Given the description of an element on the screen output the (x, y) to click on. 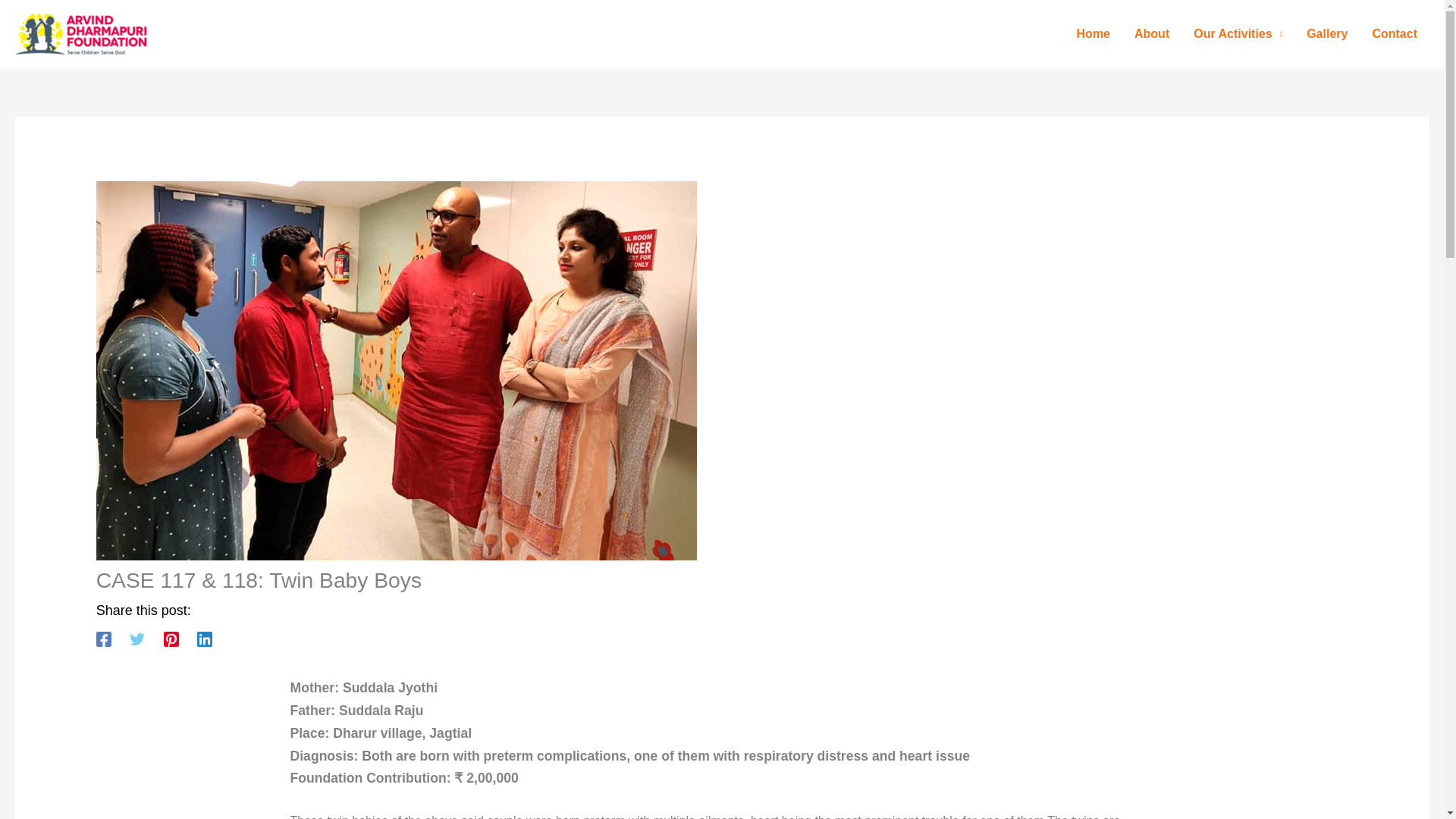
Contact (1394, 33)
Gallery (1326, 33)
About (1151, 33)
Our Activities (1237, 33)
Home (1093, 33)
